Given the description of an element on the screen output the (x, y) to click on. 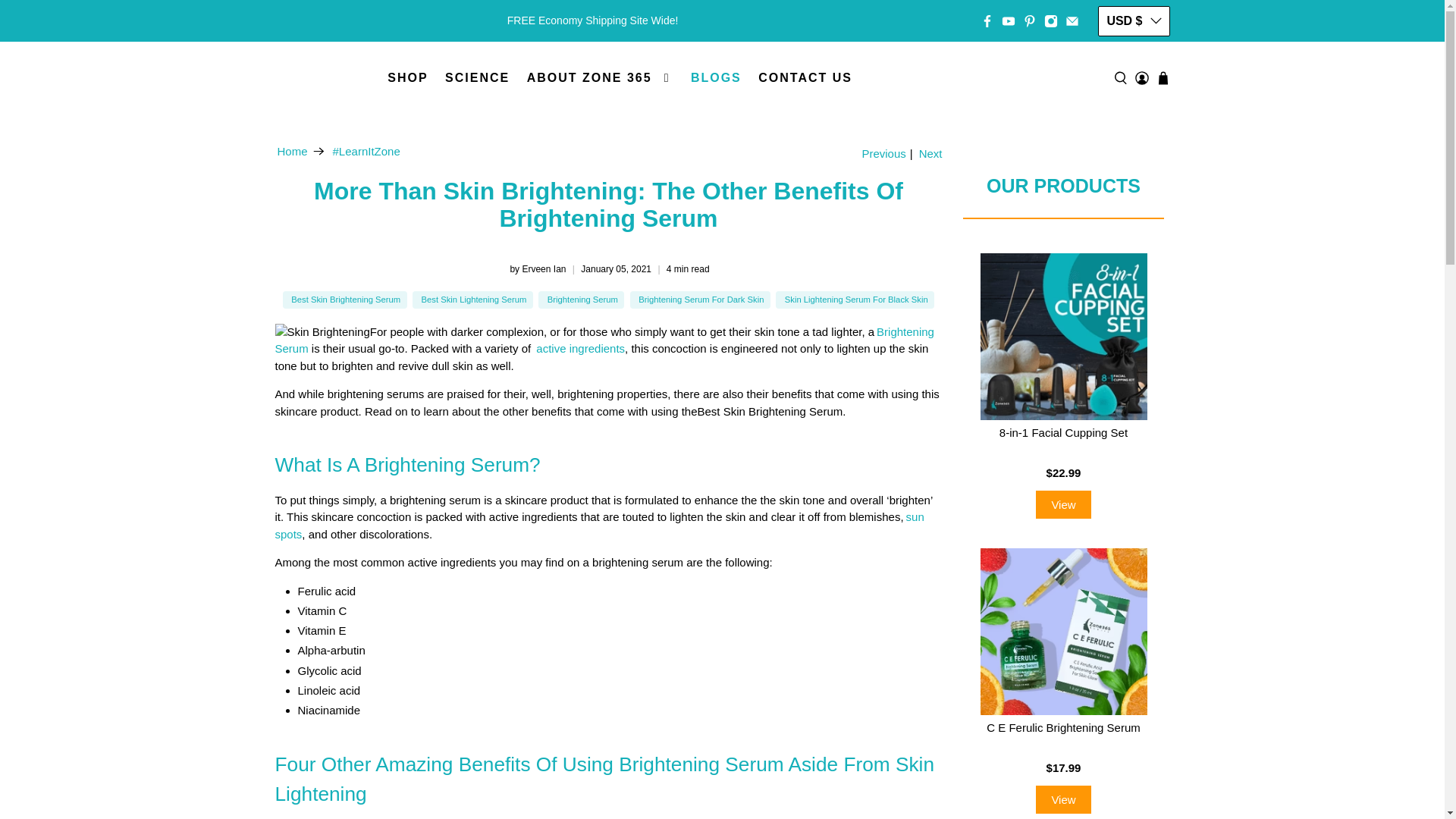
AUD (1133, 56)
ABOUT ZONE 365 (599, 77)
Zone 365 Beauty on Pinterest (1029, 20)
SCIENCE (477, 77)
CZK (1133, 143)
Zone 365 Beauty (291, 151)
PLN (1133, 344)
SEK (1133, 373)
Zone 365 Beauty on Instagram (1050, 20)
Previous (882, 153)
